Given the description of an element on the screen output the (x, y) to click on. 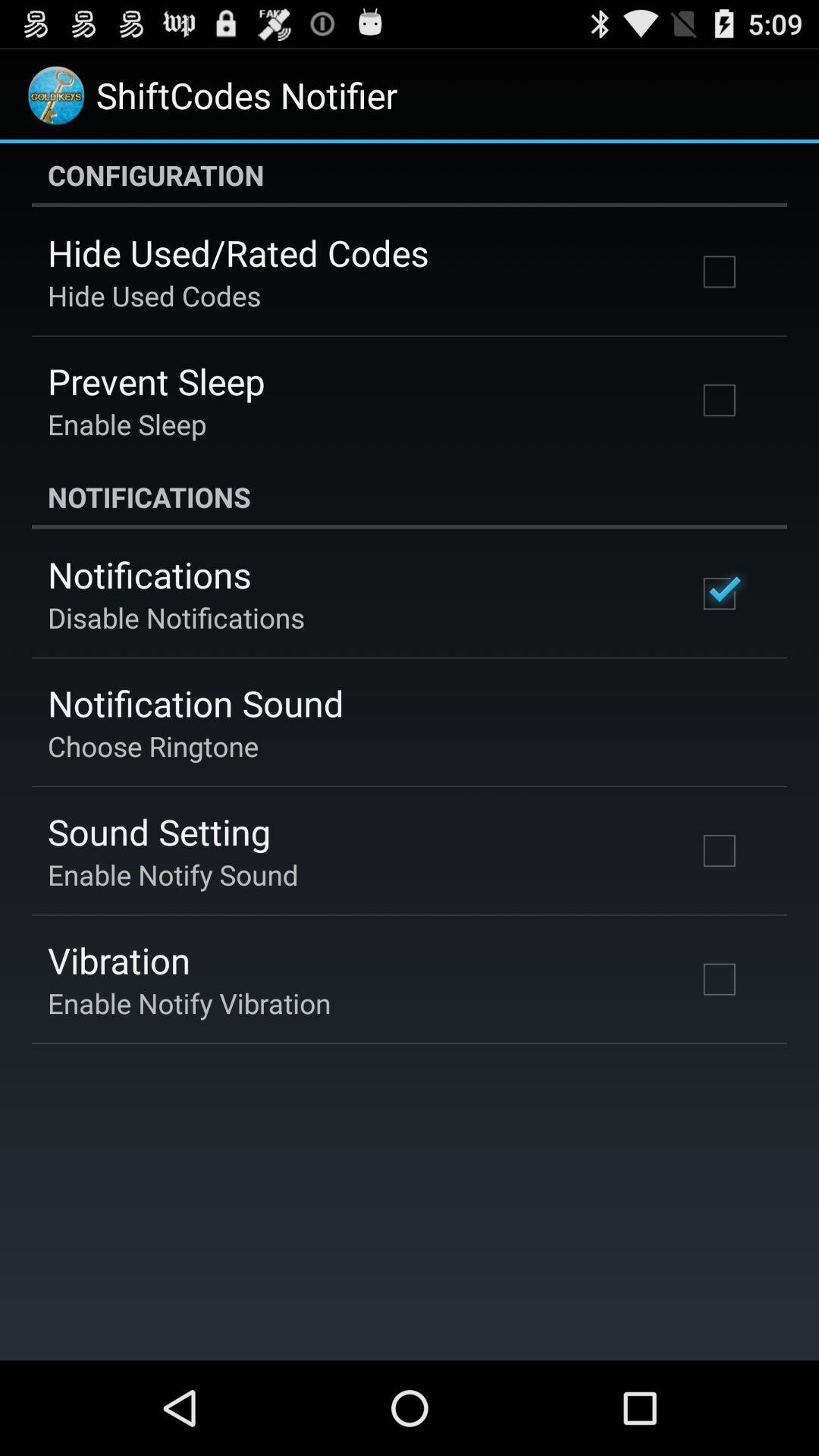
turn off the sound setting app (158, 831)
